Given the description of an element on the screen output the (x, y) to click on. 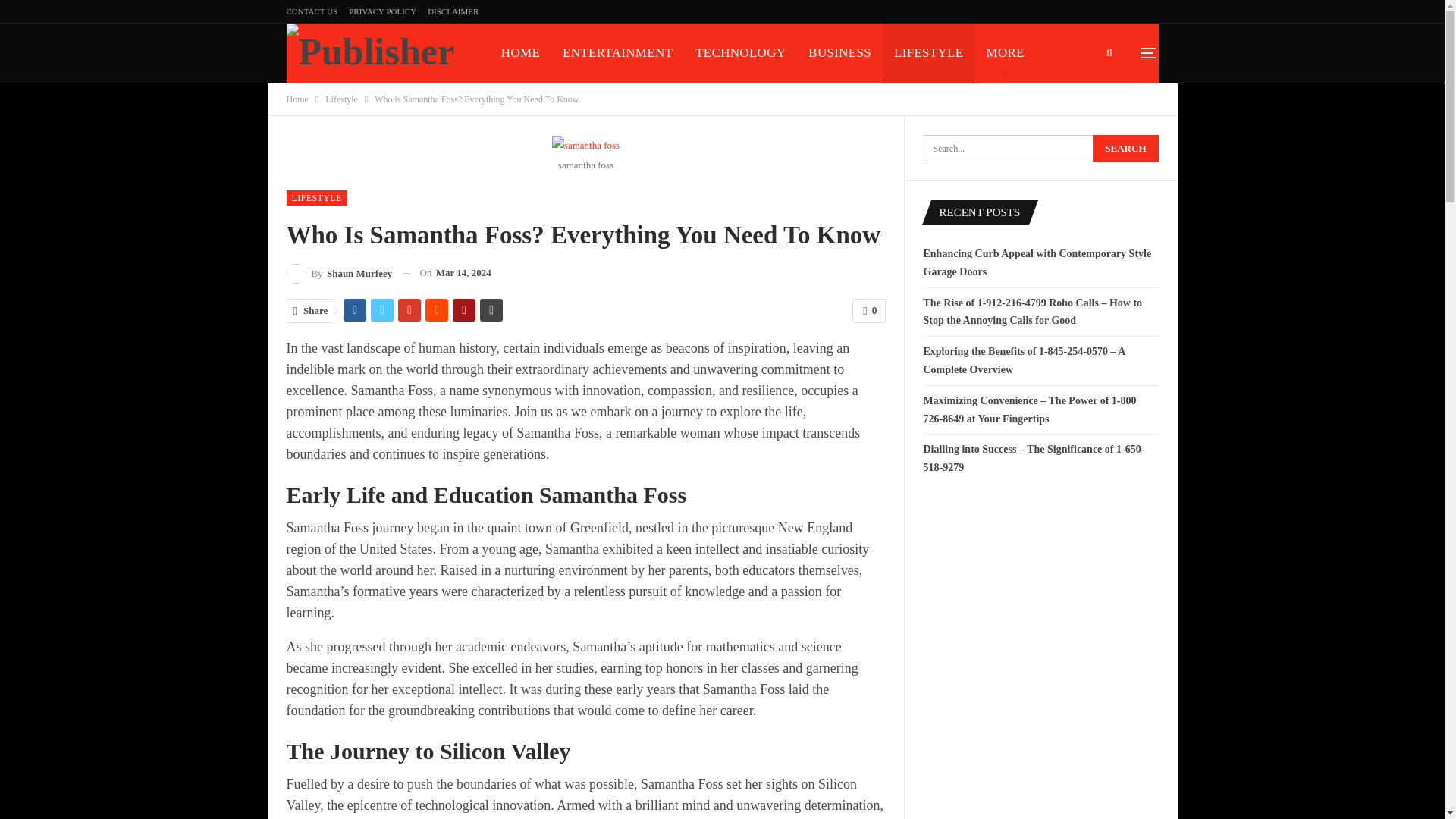
PRIVACY POLICY (382, 10)
0 (868, 310)
Browse Author Articles (339, 272)
CONTACT US (311, 10)
Search (1125, 148)
DISCLAIMER (453, 10)
TECHNOLOGY (740, 52)
LIFESTYLE (928, 52)
Lifestyle (341, 98)
Home (297, 98)
